Given the description of an element on the screen output the (x, y) to click on. 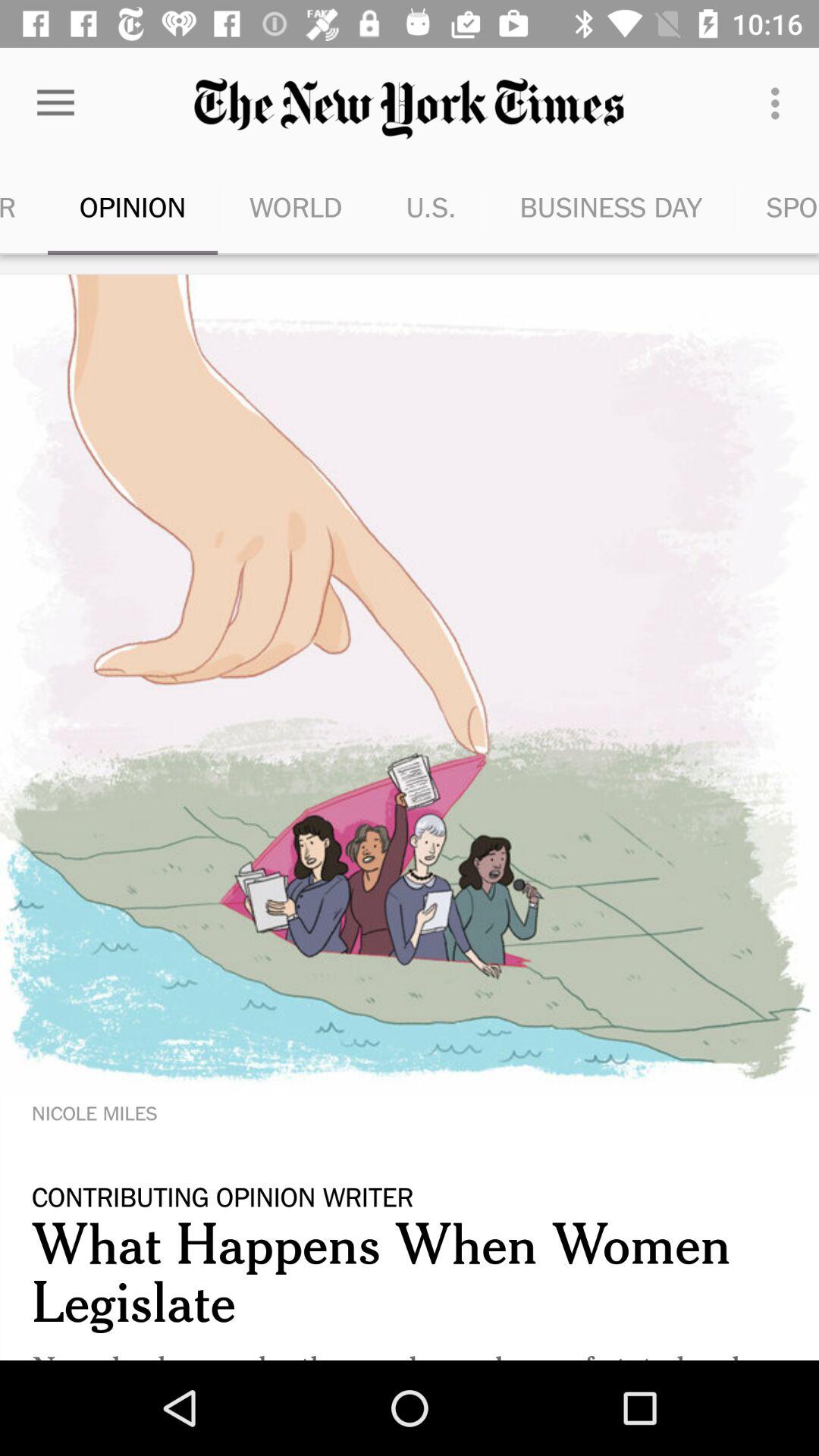
select the item next to world (430, 206)
